Given the description of an element on the screen output the (x, y) to click on. 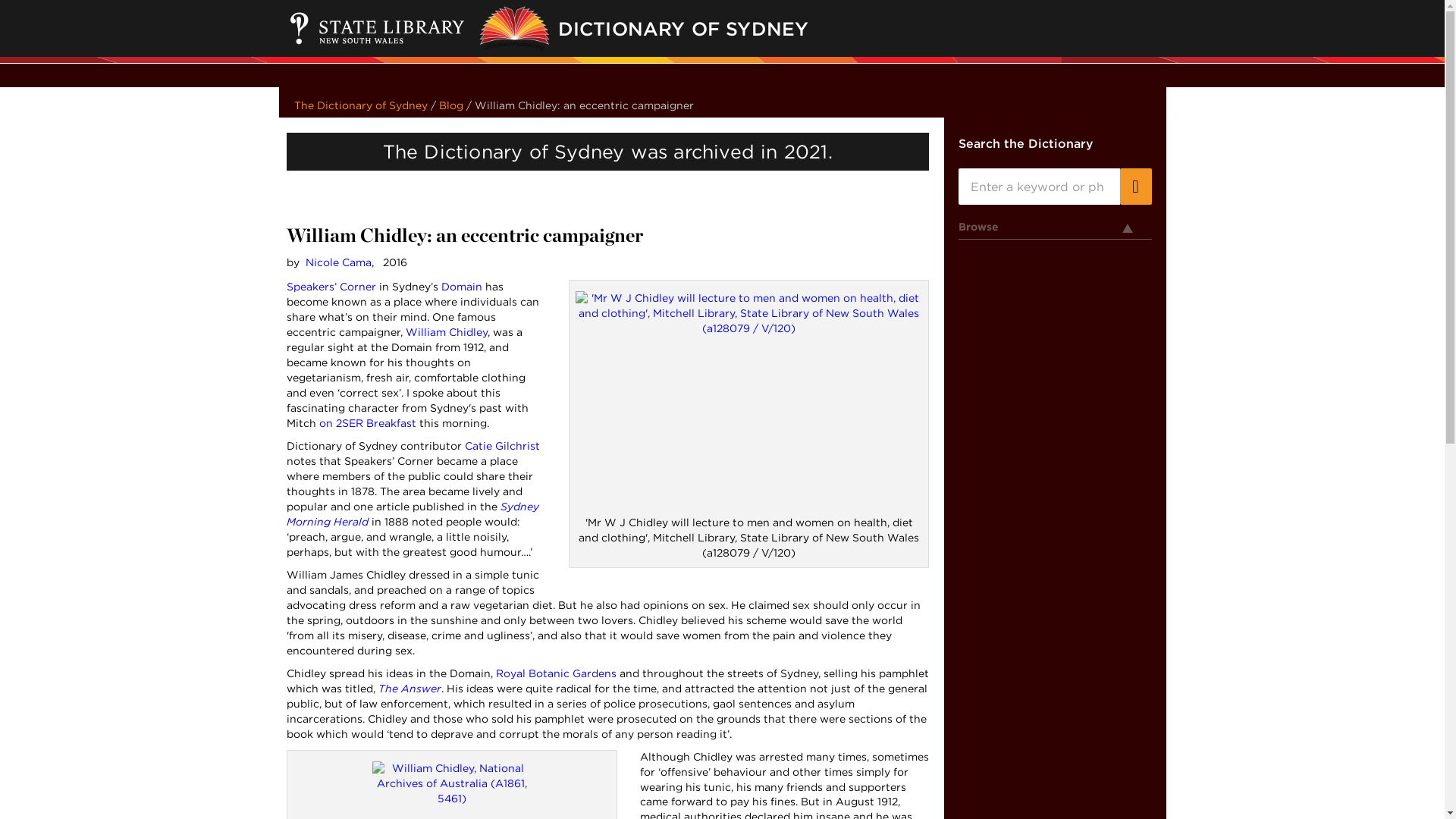
The Answer (409, 688)
The Dictionary of Sydney (361, 105)
on 2SER Breakfast (366, 422)
Nicole Cama (337, 262)
DICTIONARY OF SYDNEY (809, 28)
Blog (450, 105)
SEARCH (1135, 186)
Domain (461, 286)
Sydney Morning Herald (412, 513)
William Chidley (445, 331)
Browse (1054, 229)
Catie Gilchrist (501, 445)
Royal Botanic Gardens (555, 673)
